Given the description of an element on the screen output the (x, y) to click on. 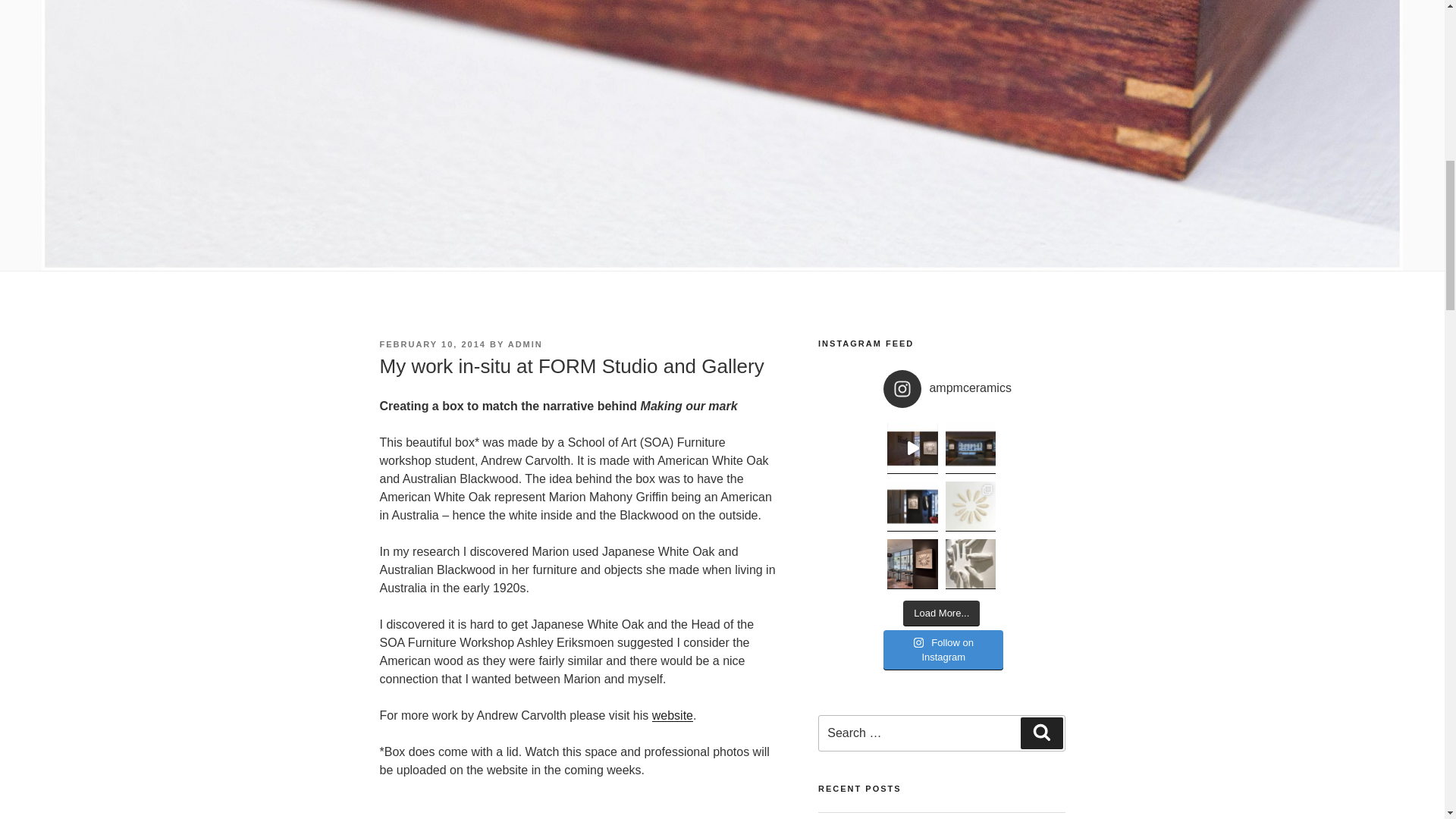
Search (1041, 733)
website (672, 715)
ampmceramics (946, 388)
Follow on Instagram (943, 649)
Load More... (940, 613)
FEBRUARY 10, 2014 (431, 343)
ADMIN (525, 343)
